Given the description of an element on the screen output the (x, y) to click on. 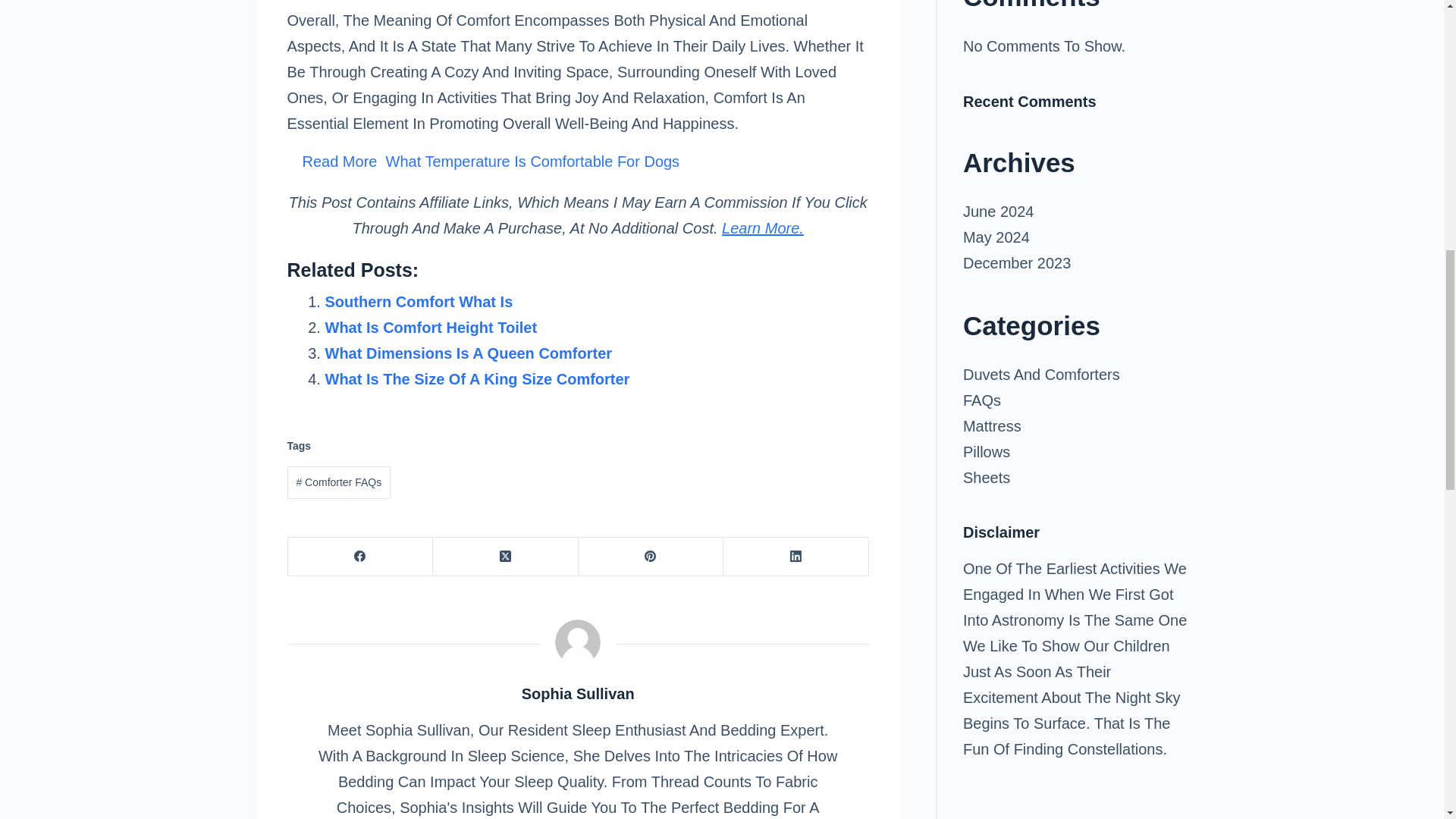
Read More  What Temperature Is Comfortable For Dogs (576, 161)
What Is Comfort Height Toilet (430, 326)
Learn More. (762, 228)
southern comfort what is (418, 300)
what is comfort height toilet (430, 326)
what dimensions is a queen comforter (467, 352)
What Is The Size Of A King Size Comforter (476, 378)
Southern Comfort What Is (418, 300)
what is the size of a king size comforter (476, 378)
What Dimensions Is A Queen Comforter (467, 352)
